Given the description of an element on the screen output the (x, y) to click on. 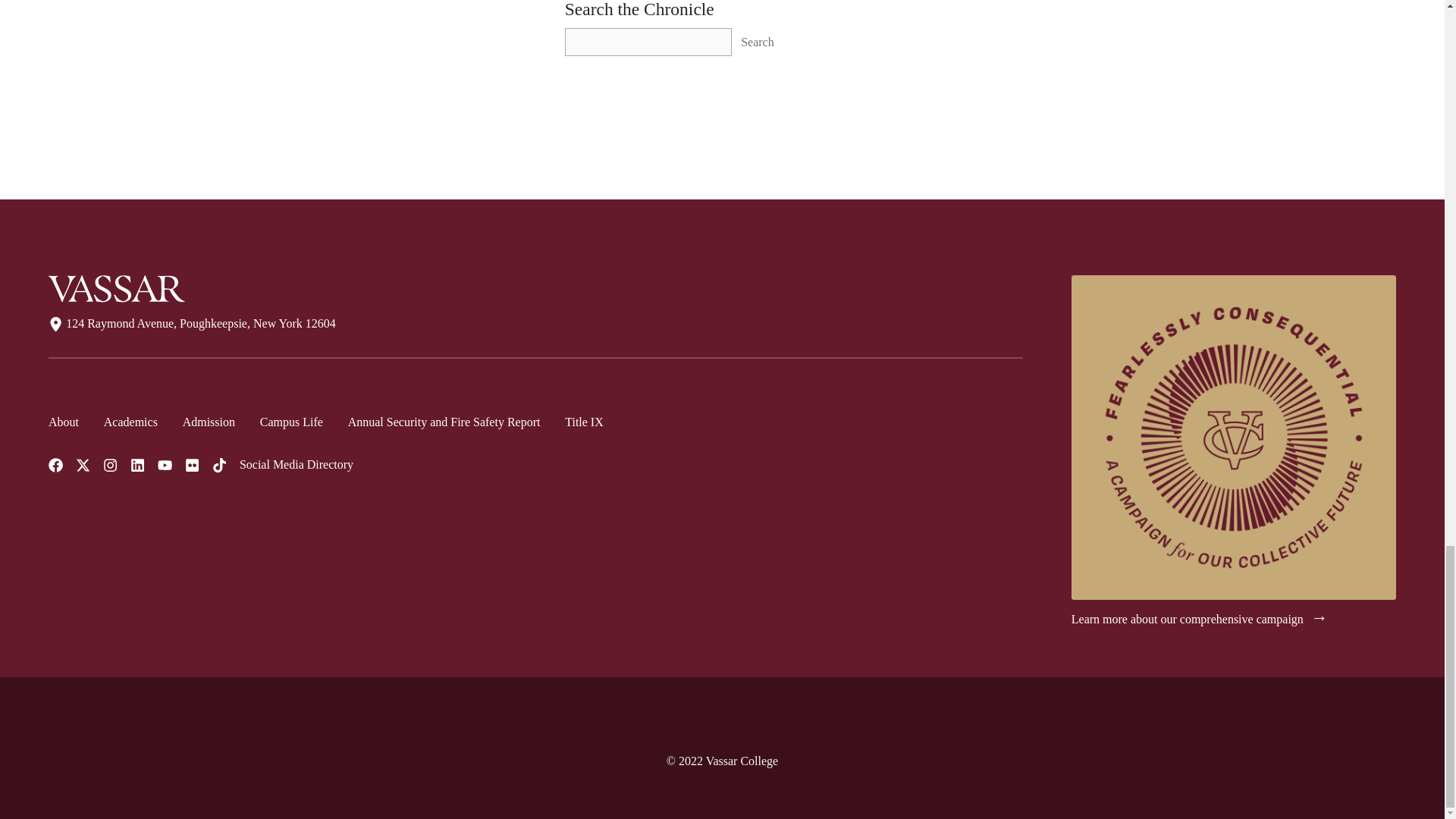
Vassar (116, 288)
